Given the description of an element on the screen output the (x, y) to click on. 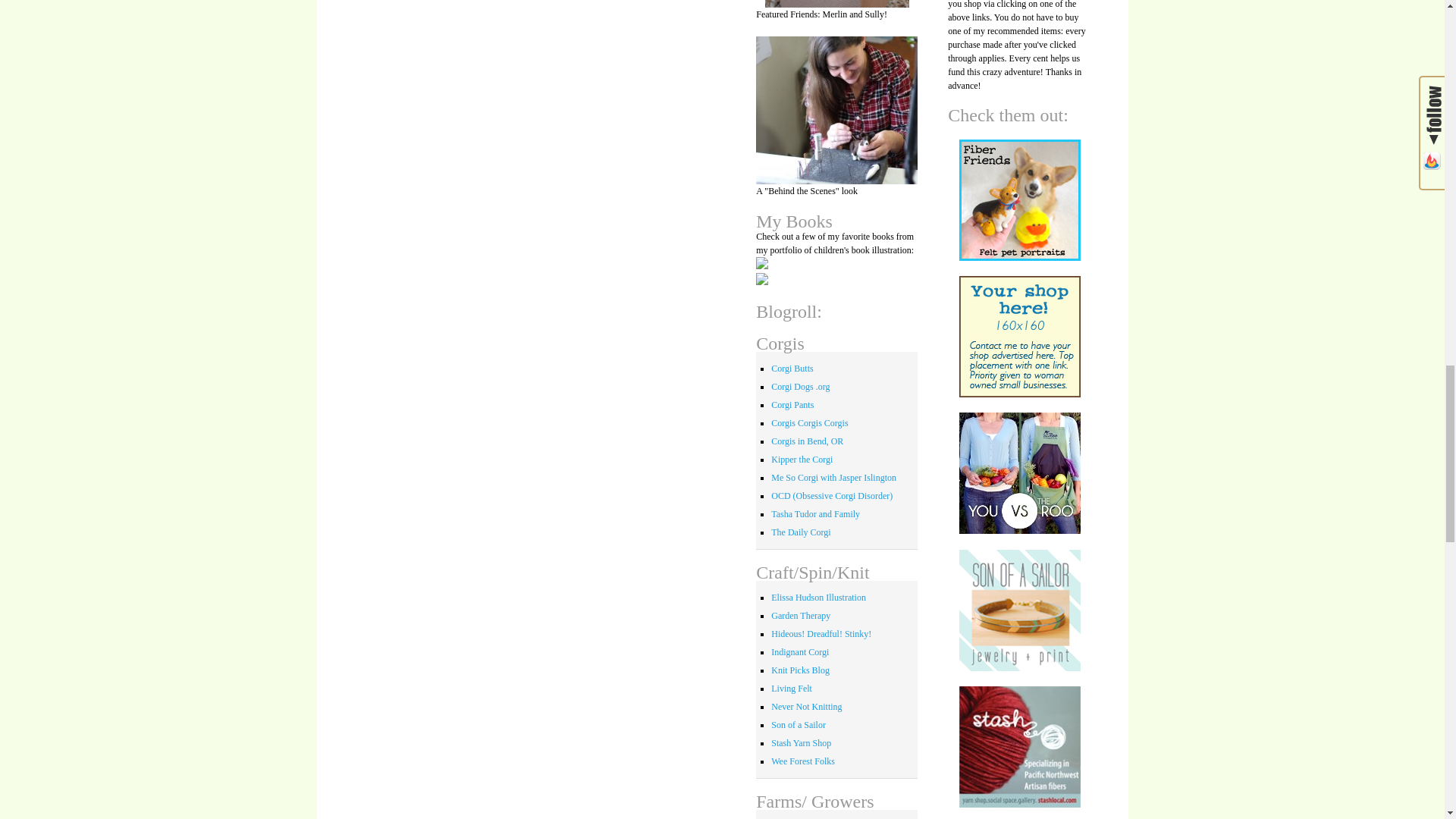
Recipes, Gardening goodies and Crafts! (800, 615)
Design, Decor and Corgi Love (799, 652)
